Given the description of an element on the screen output the (x, y) to click on. 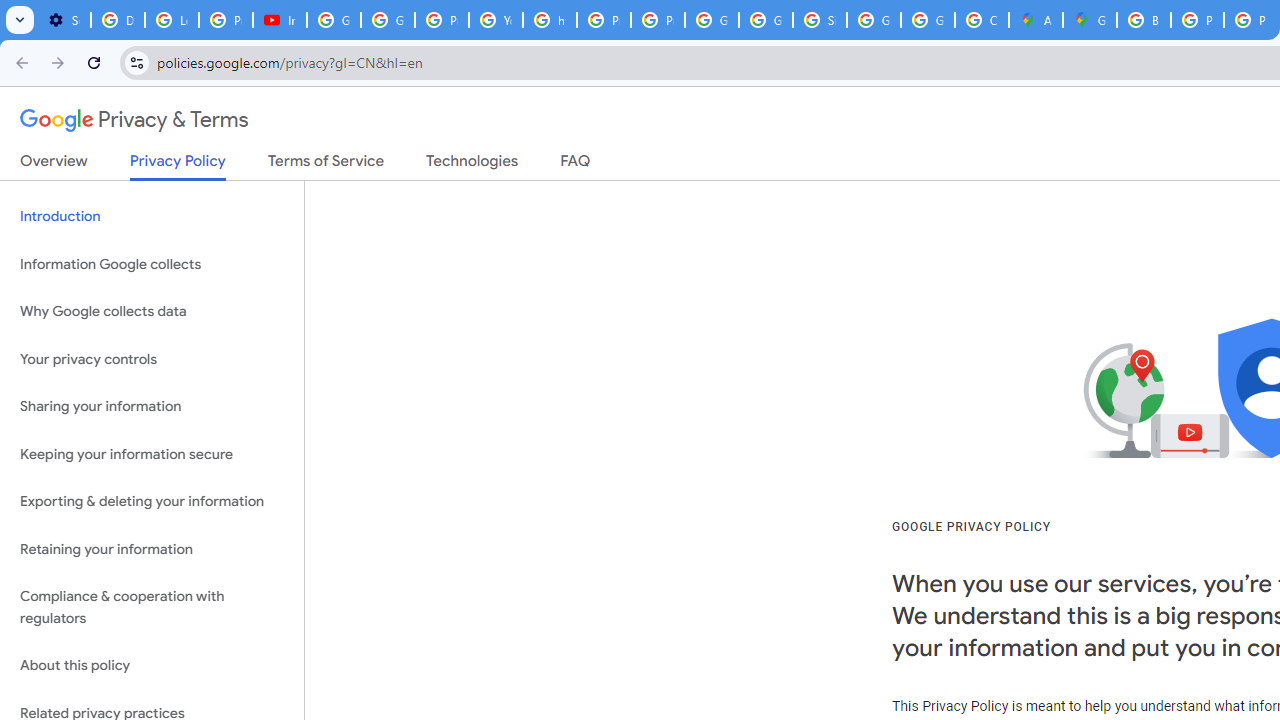
Privacy Help Center - Policies Help (604, 20)
Privacy Help Center - Policies Help (1197, 20)
Sharing your information (152, 407)
Google Account Help (387, 20)
Information Google collects (152, 263)
Retaining your information (152, 548)
Compliance & cooperation with regulators (152, 607)
Introduction (152, 216)
Settings - Customize profile (63, 20)
Privacy & Terms (134, 120)
